Given the description of an element on the screen output the (x, y) to click on. 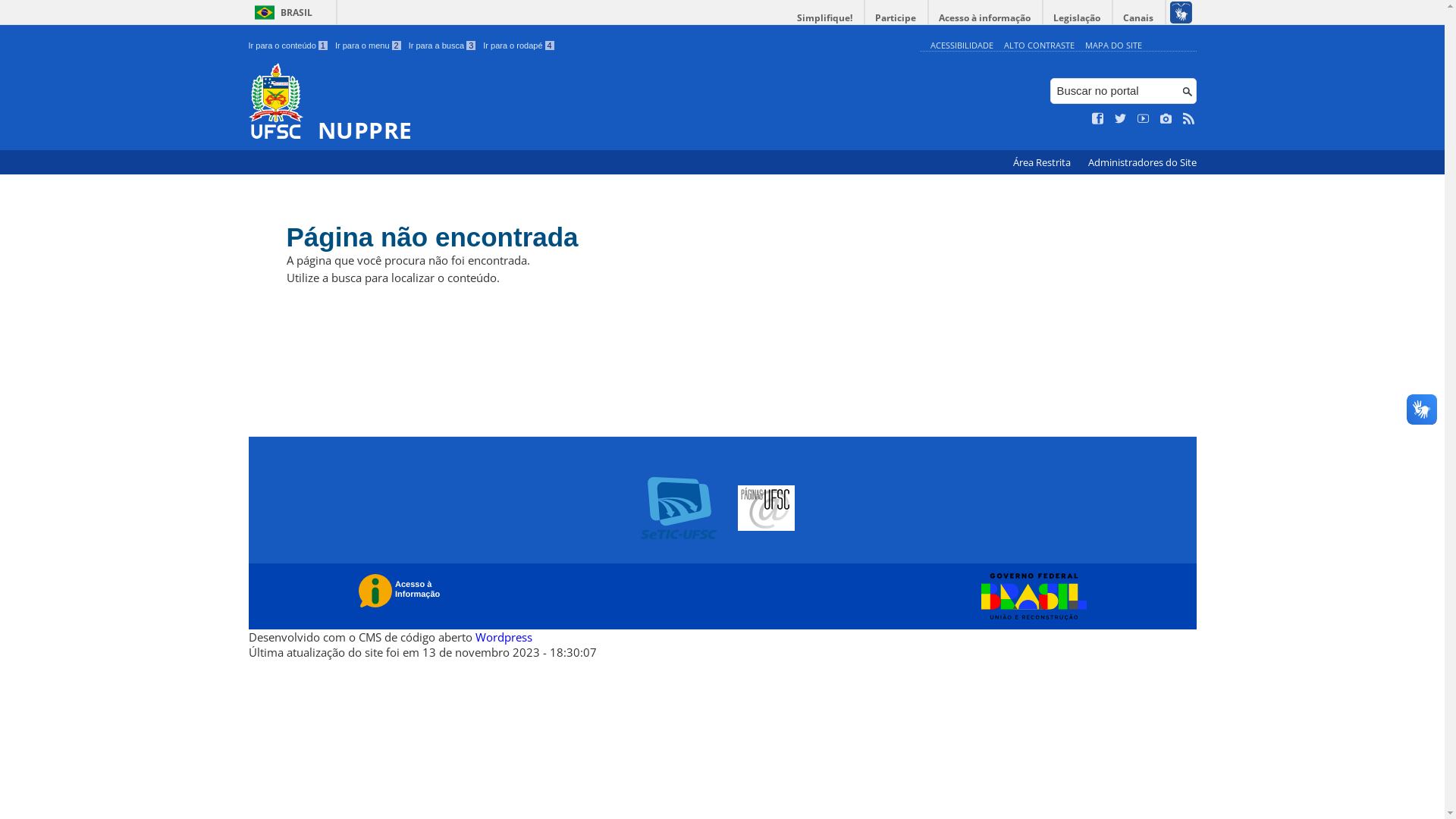
Canais Element type: text (1138, 18)
Ir para a busca 3 Element type: text (442, 45)
NUPPRE Element type: text (580, 102)
Siga no Twitter Element type: hover (1120, 118)
ACESSIBILIDADE Element type: text (960, 44)
Governo Federal Element type: hover (1029, 596)
Veja no Instagram Element type: hover (1166, 118)
ALTO CONTRASTE Element type: text (1039, 44)
Ir para o menu 2 Element type: text (368, 45)
Administradores do Site Element type: text (1141, 162)
Wordpress Element type: text (502, 636)
Curta no Facebook Element type: hover (1098, 118)
MAPA DO SITE Element type: text (1112, 44)
BRASIL Element type: text (280, 12)
Participe Element type: text (895, 18)
Simplifique! Element type: text (825, 18)
